Given the description of an element on the screen output the (x, y) to click on. 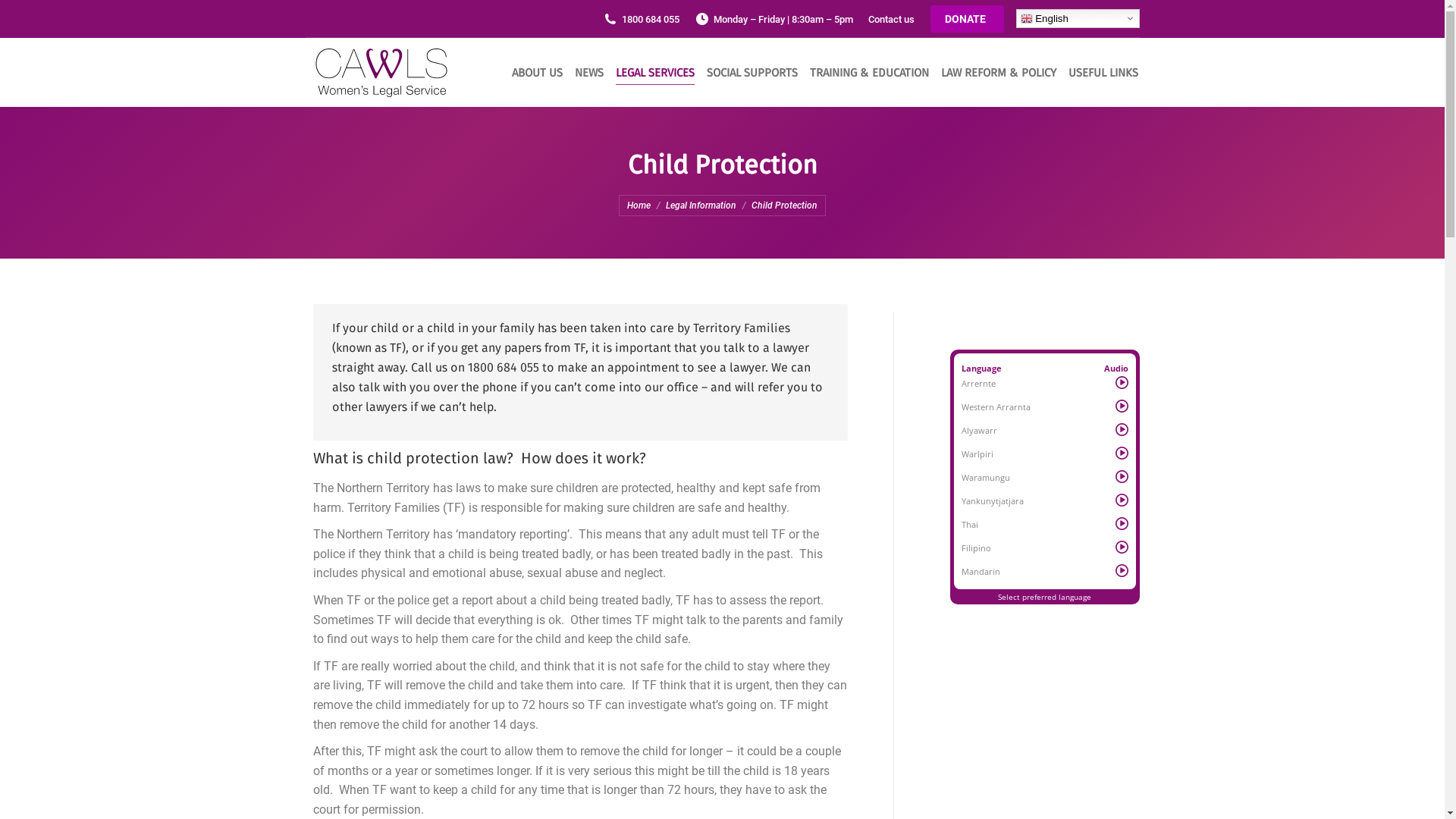
LAW REFORM & POLICY Element type: text (996, 72)
ABOUT US Element type: text (534, 72)
Thai Element type: text (969, 524)
Yankunytjatjara Element type: text (992, 500)
Filipino Element type: text (976, 547)
Contact us Element type: text (890, 19)
Go! Element type: text (23, 15)
DONATE Element type: text (966, 18)
SOCIAL SUPPORTS Element type: text (750, 72)
Waramungu Element type: text (985, 477)
Alyawarr Element type: text (979, 430)
1800 684 055 Element type: text (640, 19)
Arrernte Element type: text (978, 383)
LEGAL SERVICES Element type: text (653, 72)
Mandarin Element type: text (980, 571)
NEWS Element type: text (587, 72)
English Element type: text (1077, 18)
TRAINING & EDUCATION Element type: text (867, 72)
Western Arrarnta Element type: text (995, 406)
USEFUL LINKS Element type: text (1101, 72)
Legal Information Element type: text (700, 205)
Warlpiri Element type: text (977, 453)
Home Element type: text (638, 205)
